Given the description of an element on the screen output the (x, y) to click on. 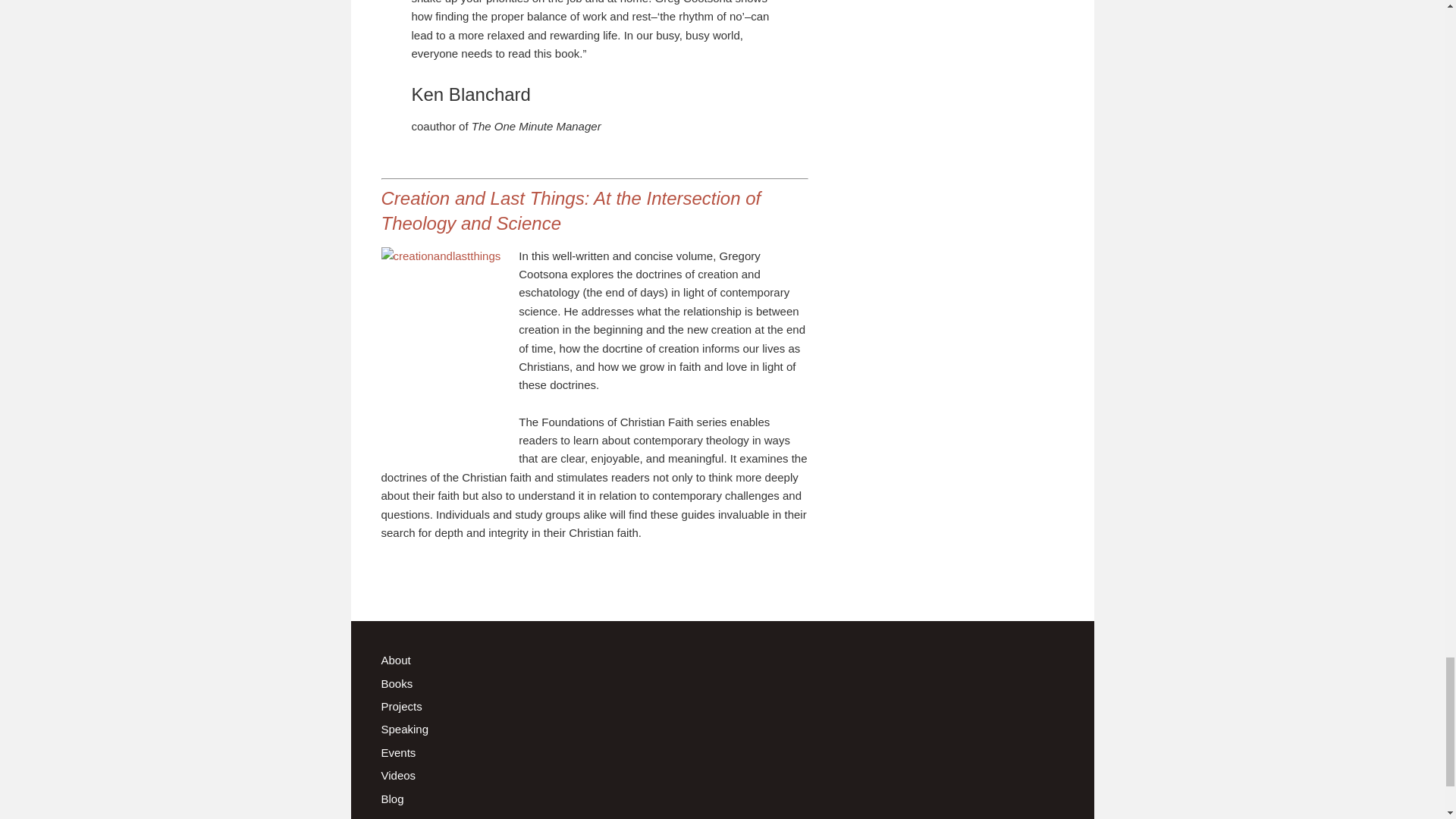
Blog (391, 798)
Events (397, 752)
Projects (401, 706)
Videos (397, 775)
Speaking (404, 728)
Books (396, 683)
About (395, 659)
